Given the description of an element on the screen output the (x, y) to click on. 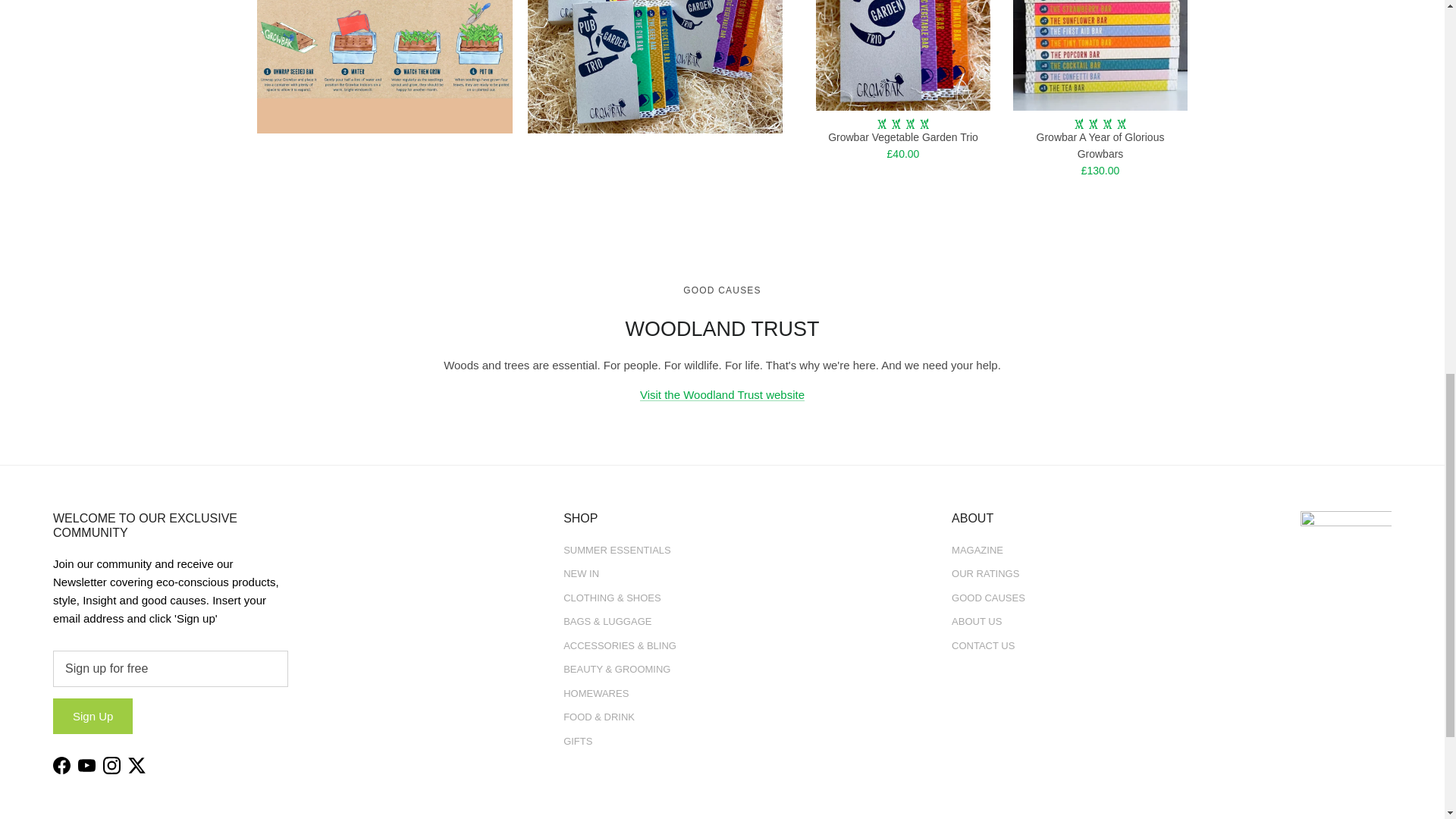
Ateliers Verts on Instagram (111, 764)
Ateliers Verts on Facebook (60, 764)
Ateliers Verts on Twitter (136, 764)
Ateliers Verts on YouTube (87, 764)
